Given the description of an element on the screen output the (x, y) to click on. 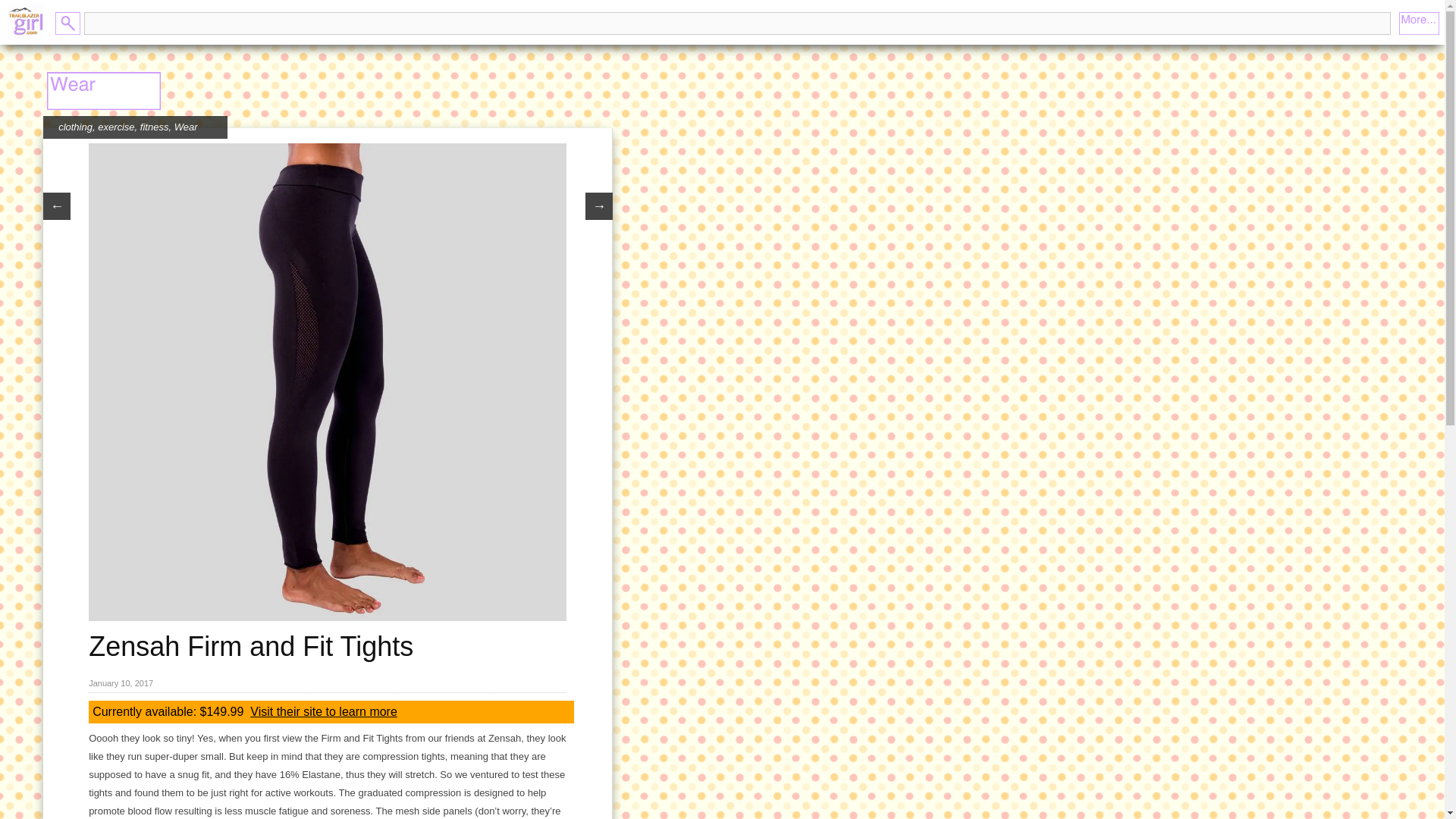
clothing (75, 126)
exercise (115, 126)
fitness (153, 126)
Visit their site to learn more (323, 711)
Wear (186, 126)
